Given the description of an element on the screen output the (x, y) to click on. 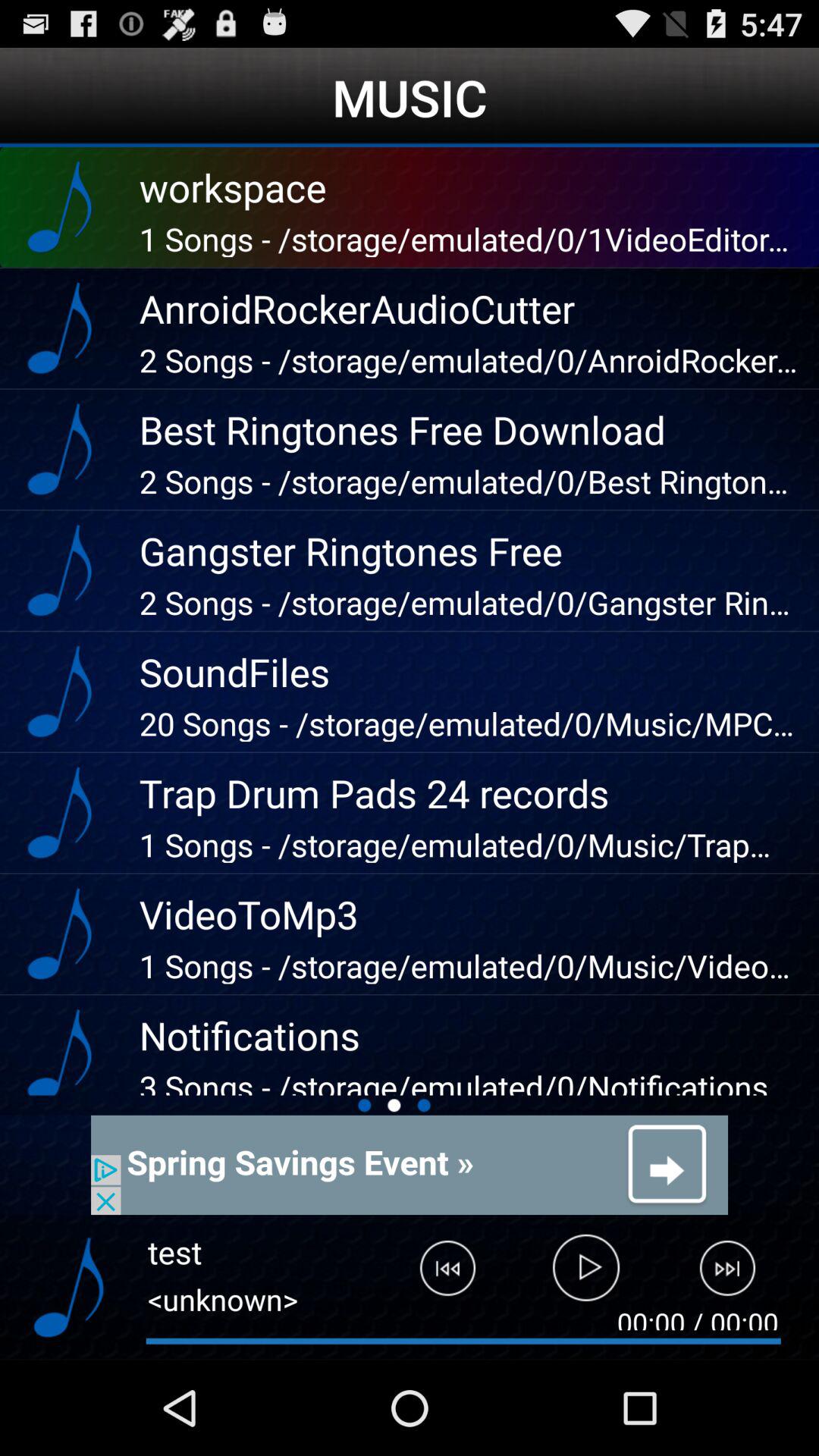
select the next play (737, 1274)
